Given the description of an element on the screen output the (x, y) to click on. 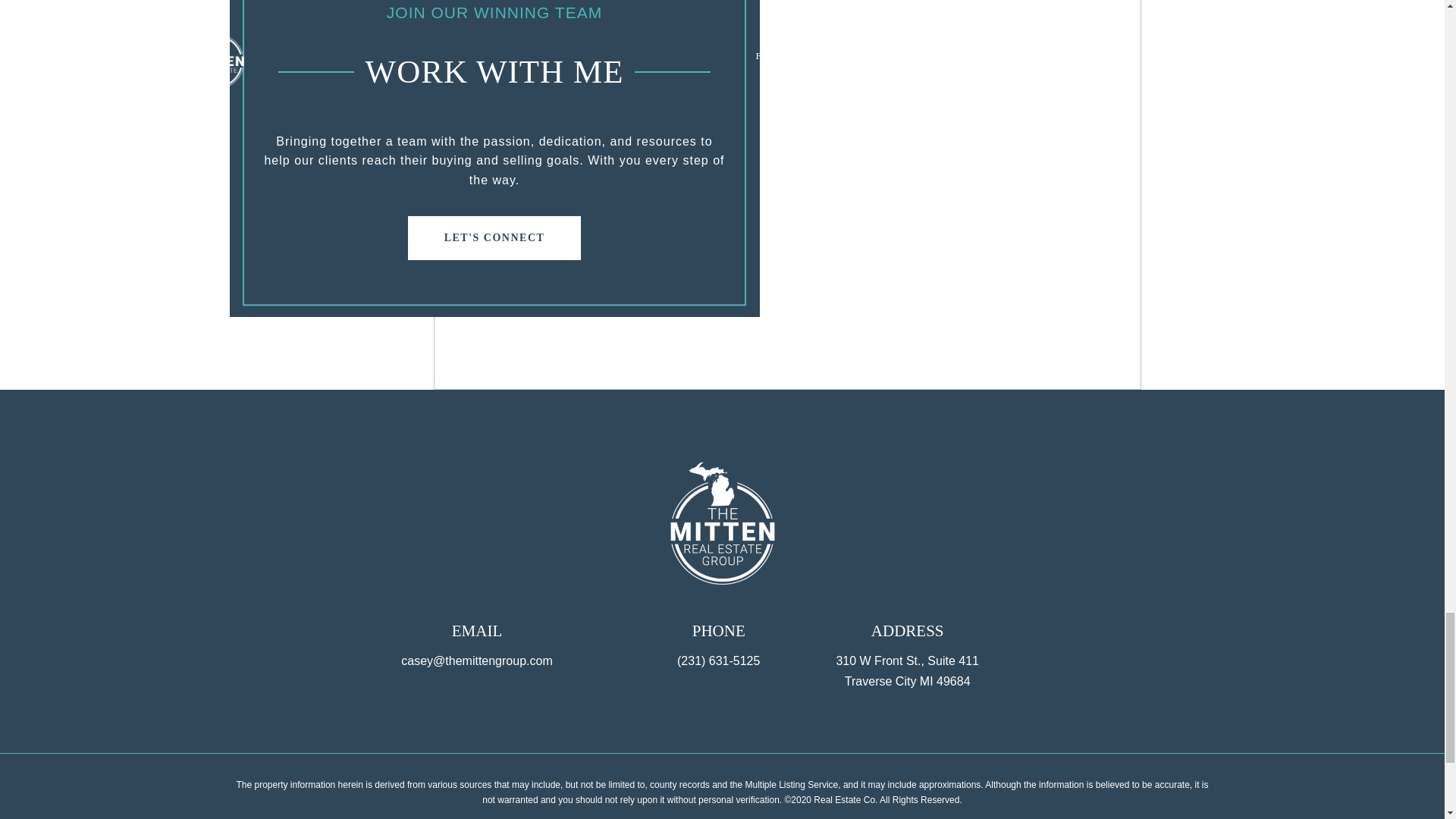
LET'S CONNECT (493, 238)
